Given the description of an element on the screen output the (x, y) to click on. 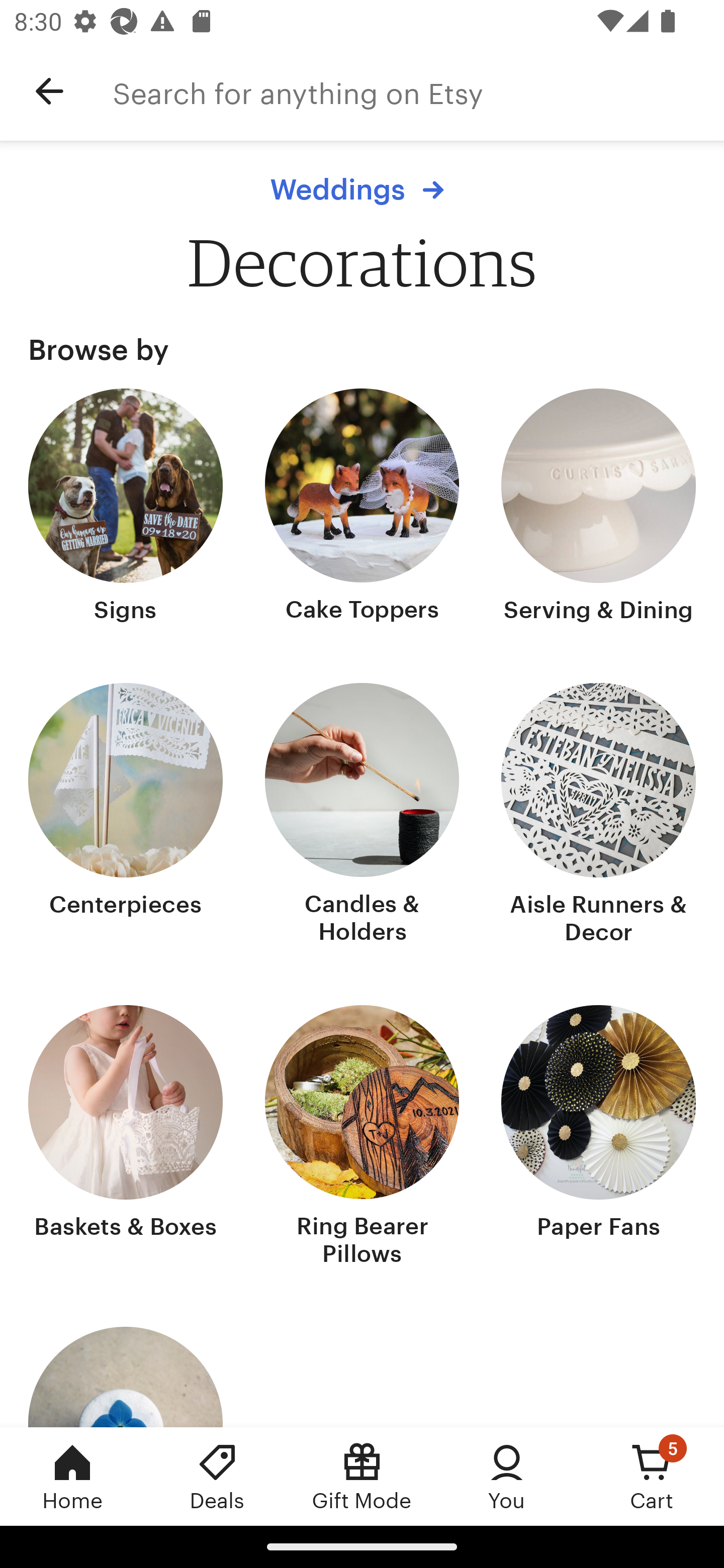
Navigate up (49, 91)
Search for anything on Etsy (418, 91)
Weddings (361, 189)
Signs (125, 507)
Cake Toppers (361, 507)
Serving & Dining (598, 507)
Centerpieces (125, 815)
Candles & Holders (361, 815)
Aisle Runners & Decor (598, 815)
Baskets & Boxes (125, 1137)
Ring Bearer Pillows (361, 1137)
Paper Fans (598, 1137)
Deals (216, 1475)
Gift Mode (361, 1475)
You (506, 1475)
Cart, 5 new notifications Cart (651, 1475)
